Given the description of an element on the screen output the (x, y) to click on. 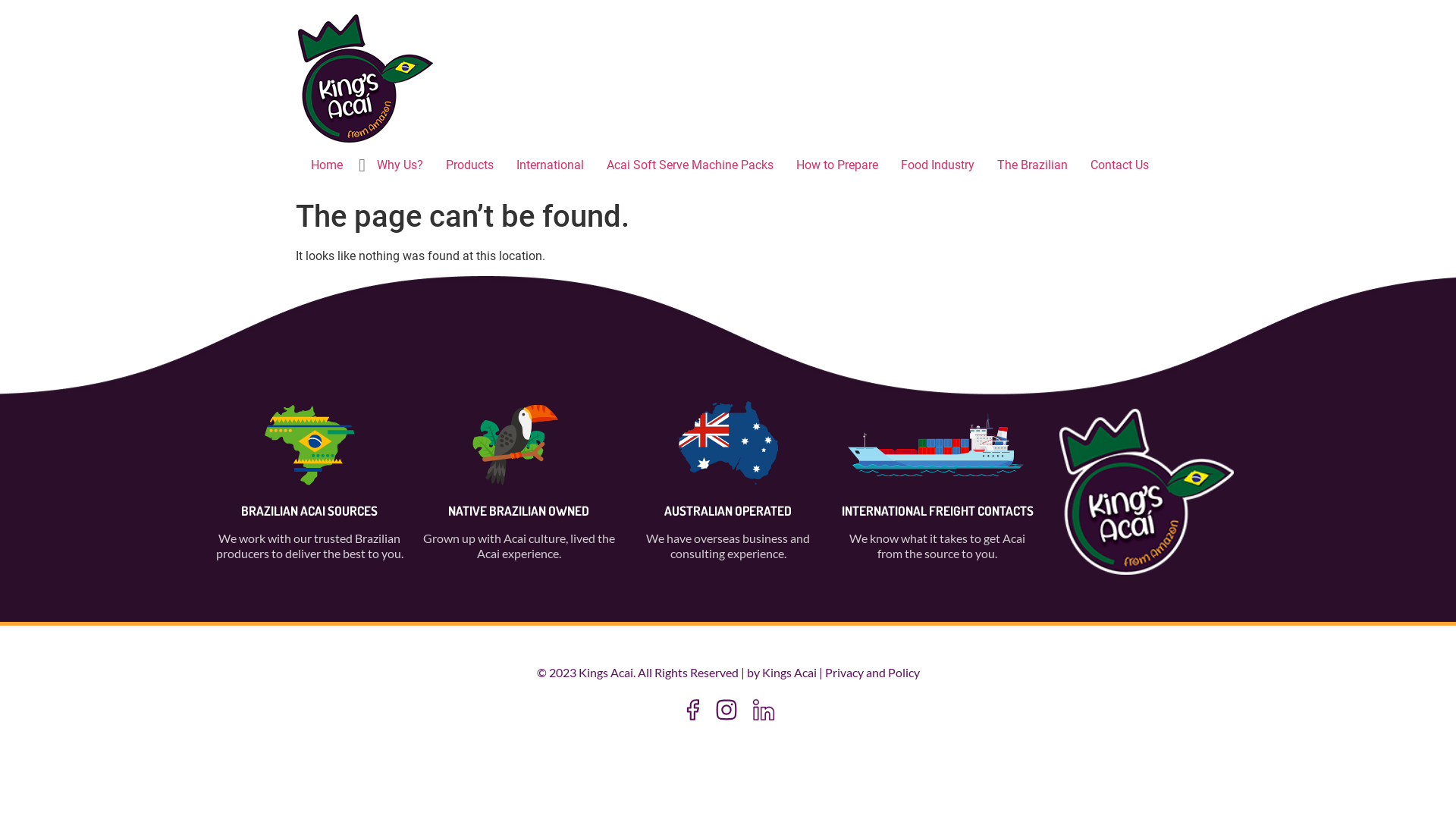
How to Prepare Element type: text (836, 165)
Products Element type: text (469, 165)
International Element type: text (550, 165)
Acai Soft Serve Machine Packs Element type: text (689, 165)
Food Industry Element type: text (937, 165)
Home Element type: text (326, 165)
The Brazilian Element type: text (1032, 165)
Contact Us Element type: text (1119, 165)
Why Us? Element type: text (399, 165)
